Given the description of an element on the screen output the (x, y) to click on. 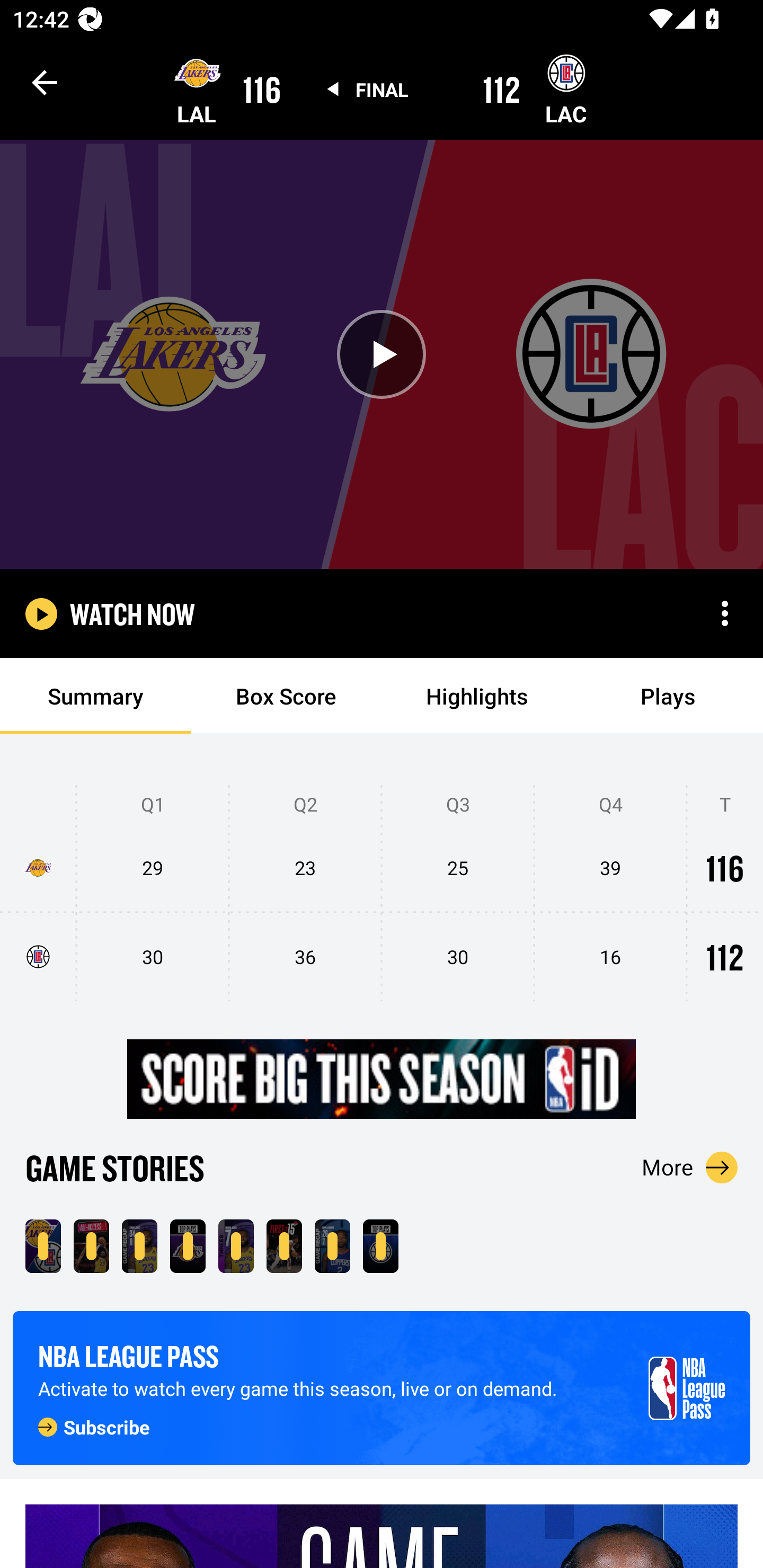
Navigate up (44, 82)
More options (724, 613)
WATCH NOW (132, 613)
Box Score (285, 695)
Highlights (476, 695)
Plays (667, 695)
Q1 Q2 Q3 Q4 T 29 23 25 39 116 30 36 30 16 112 (381, 893)
More (689, 1166)
NEW LAL 116, LAC 112 - Feb 28 (43, 1246)
NEW LeBron Takes Over In The Battle Of LA (91, 1246)
NEW Highlights From LeBron James's 34-Point Game (139, 1246)
NEW LAL's Top Plays from LAL vs. LAC (187, 1246)
First To 15: Feb. 28th NEW (284, 1246)
Highlights From Kawhi Leonard's 26-Point Game NEW (332, 1246)
LAC's Top Plays from LAL vs. LAC NEW (380, 1246)
